Given the description of an element on the screen output the (x, y) to click on. 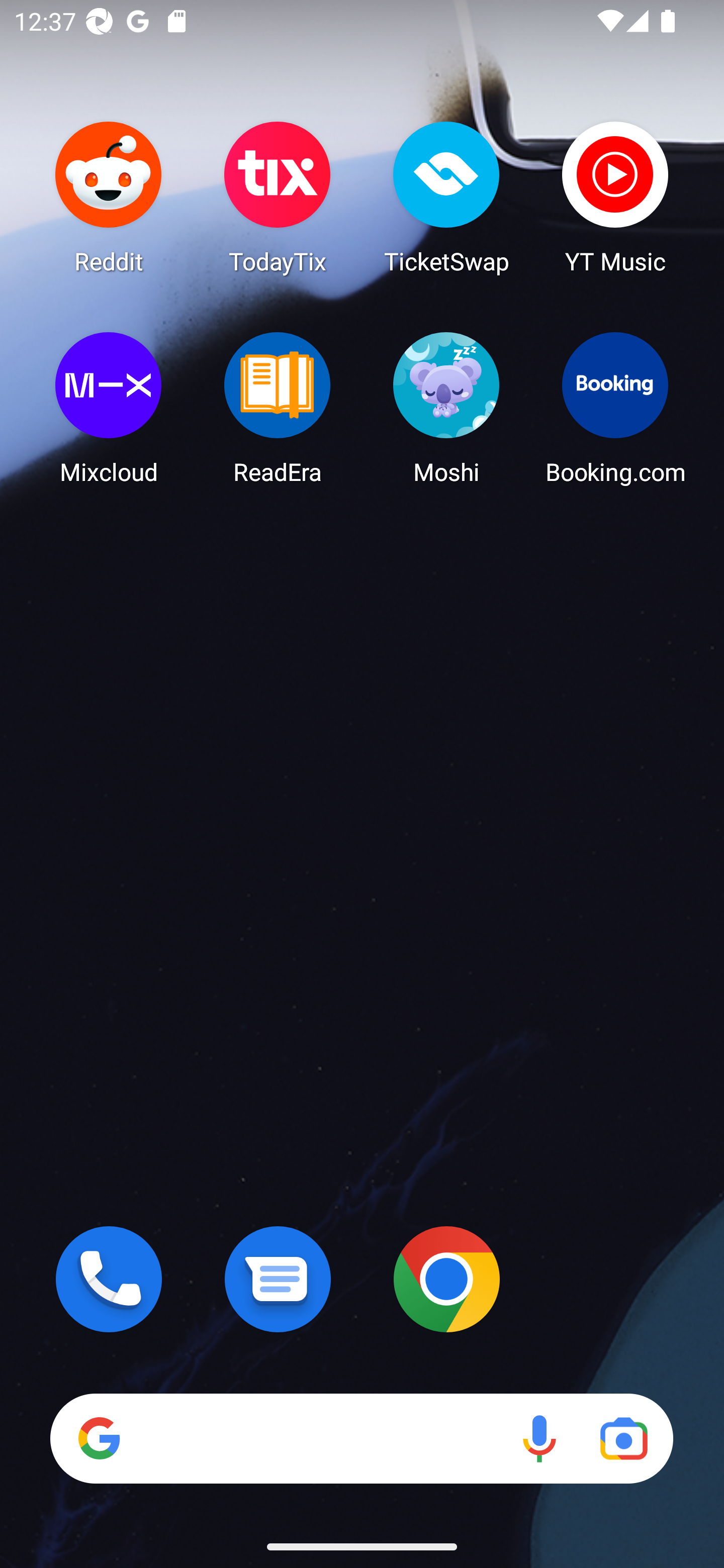
Reddit (108, 196)
TodayTix (277, 196)
TicketSwap (445, 196)
YT Music (615, 196)
Mixcloud (108, 407)
ReadEra (277, 407)
Moshi (445, 407)
Booking.com (615, 407)
Phone (108, 1279)
Messages (277, 1279)
Chrome (446, 1279)
Search Voice search Google Lens (361, 1438)
Voice search (539, 1438)
Google Lens (623, 1438)
